Given the description of an element on the screen output the (x, y) to click on. 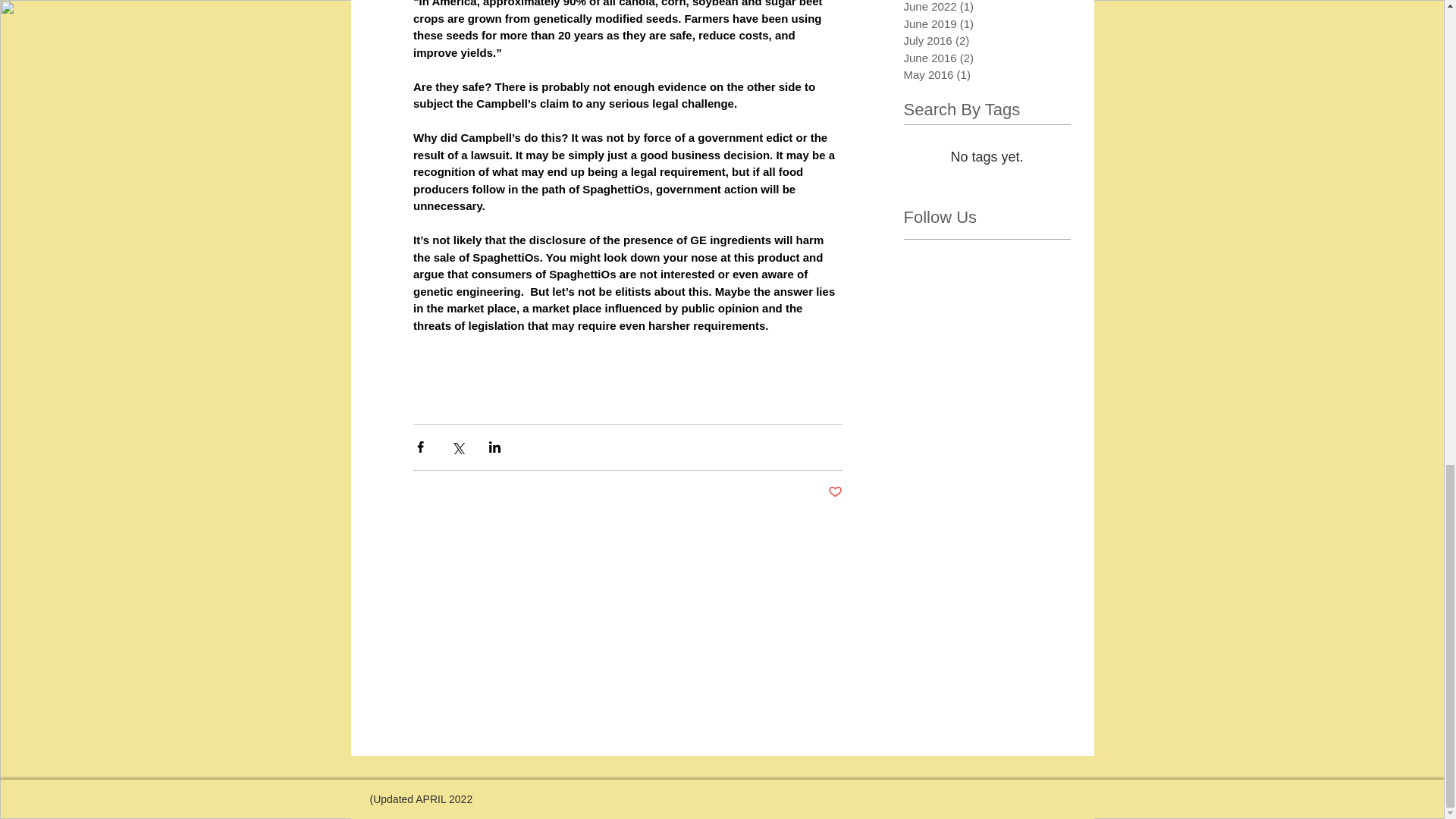
Post not marked as liked (835, 492)
